Given the description of an element on the screen output the (x, y) to click on. 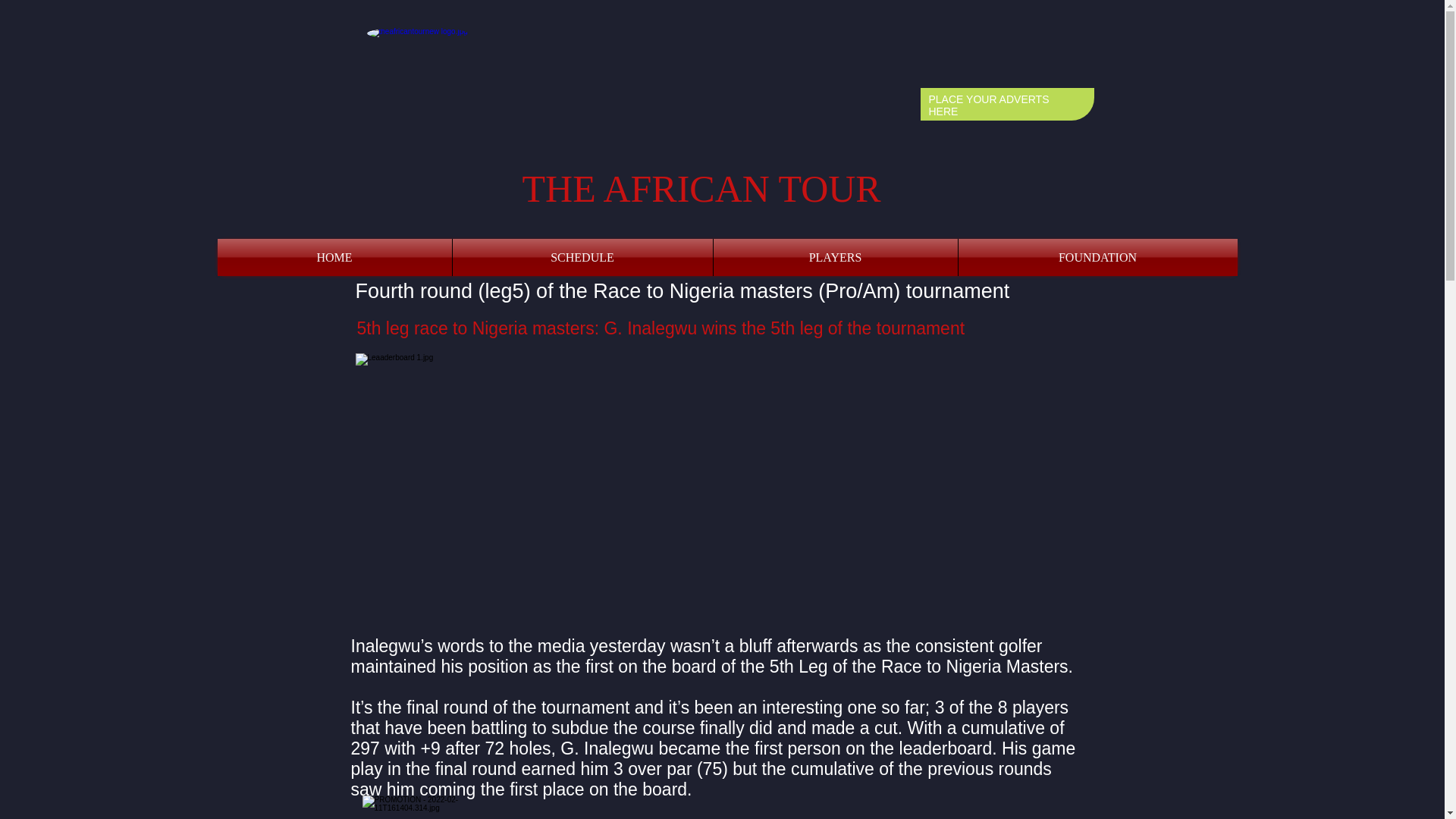
PLAYERS (834, 257)
Leaaderboard 1.jpg (526, 487)
The African Tour (425, 81)
SCHEDULE (581, 257)
PROMOTION - 2022-01-27T162209.167.jpg (422, 807)
FOUNDATION (1097, 257)
HOME (333, 257)
